Given the description of an element on the screen output the (x, y) to click on. 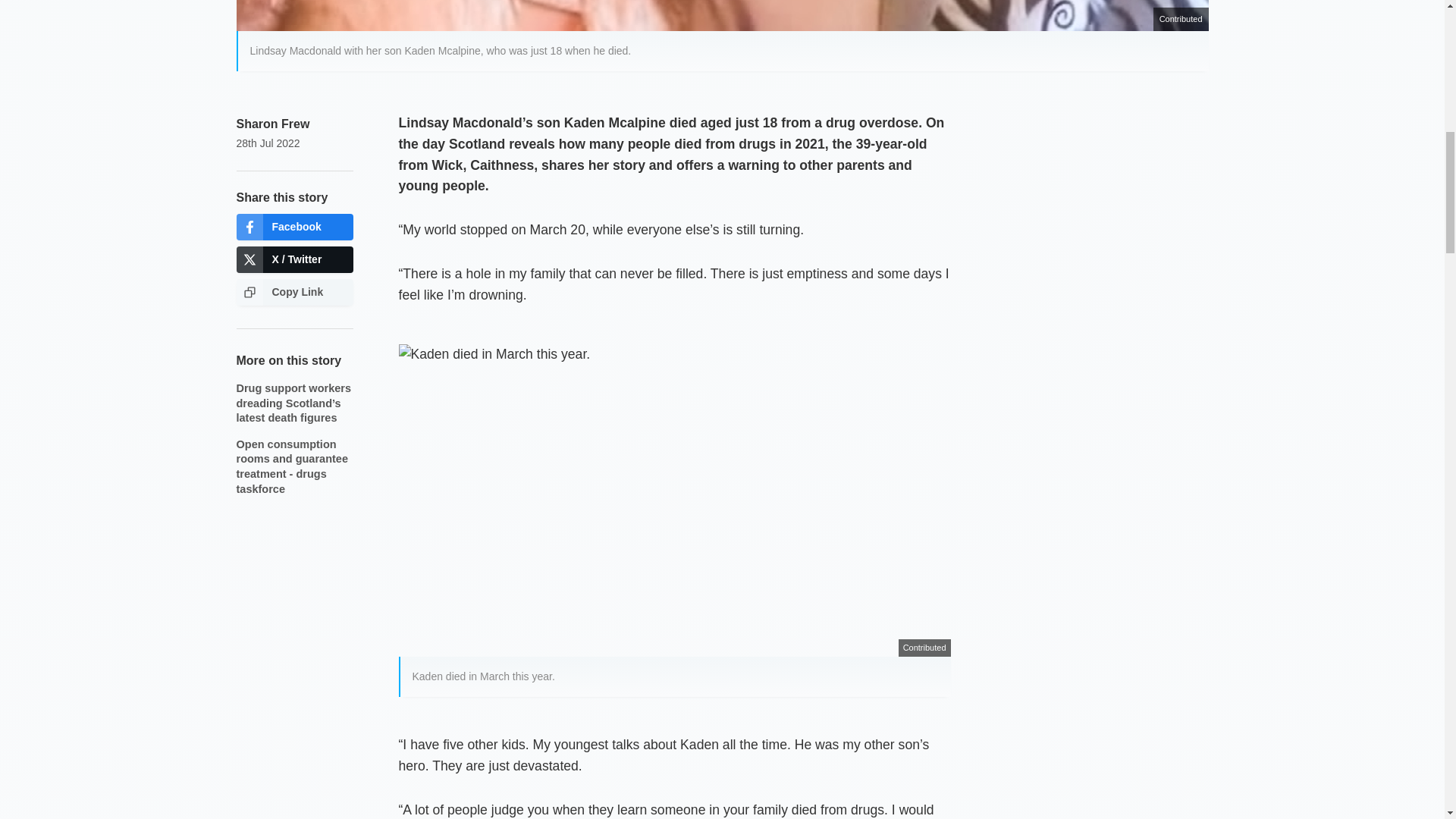
Sharon Frew (272, 123)
Facebook (294, 226)
